Given the description of an element on the screen output the (x, y) to click on. 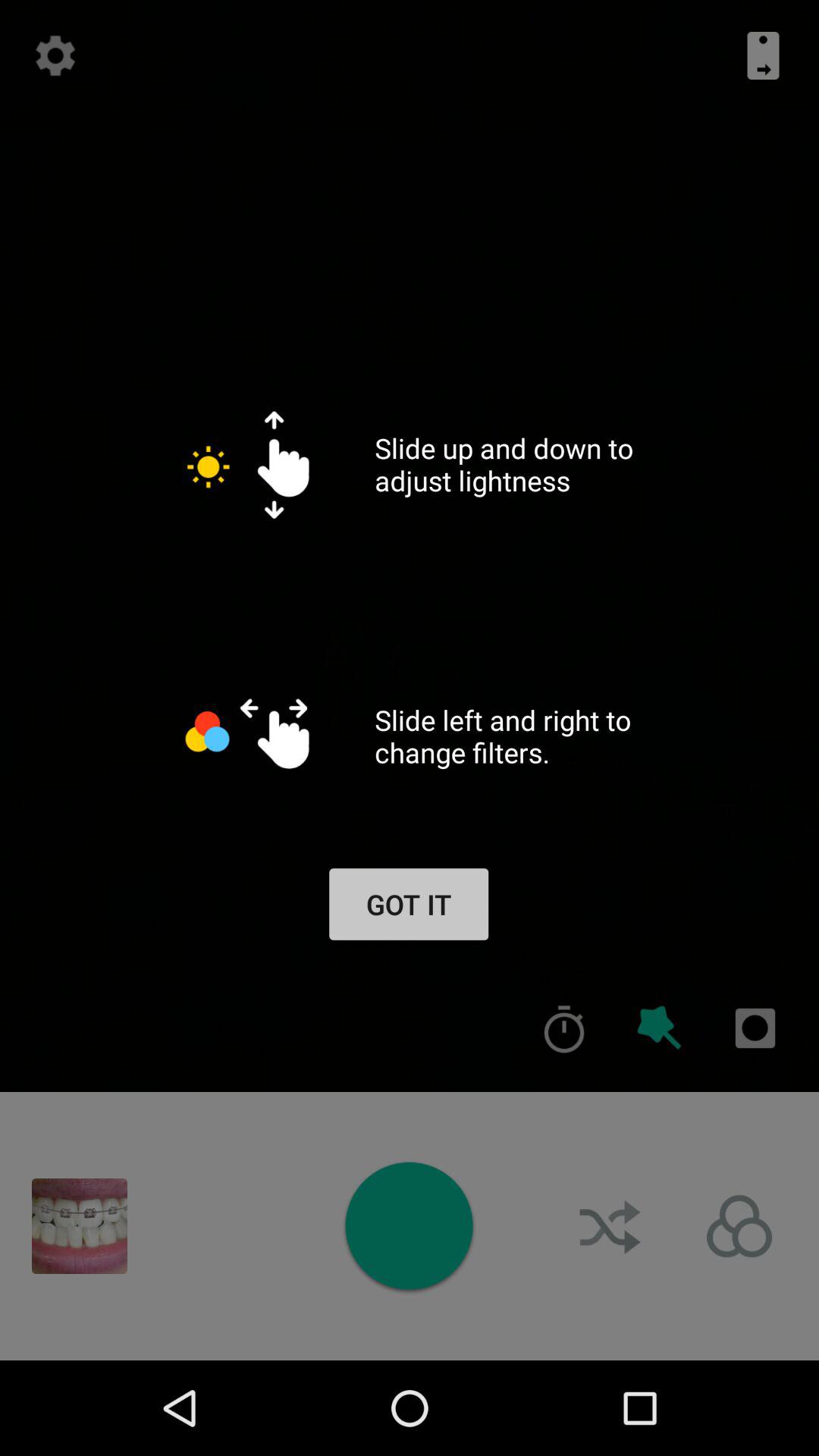
go to timer (563, 1028)
